Given the description of an element on the screen output the (x, y) to click on. 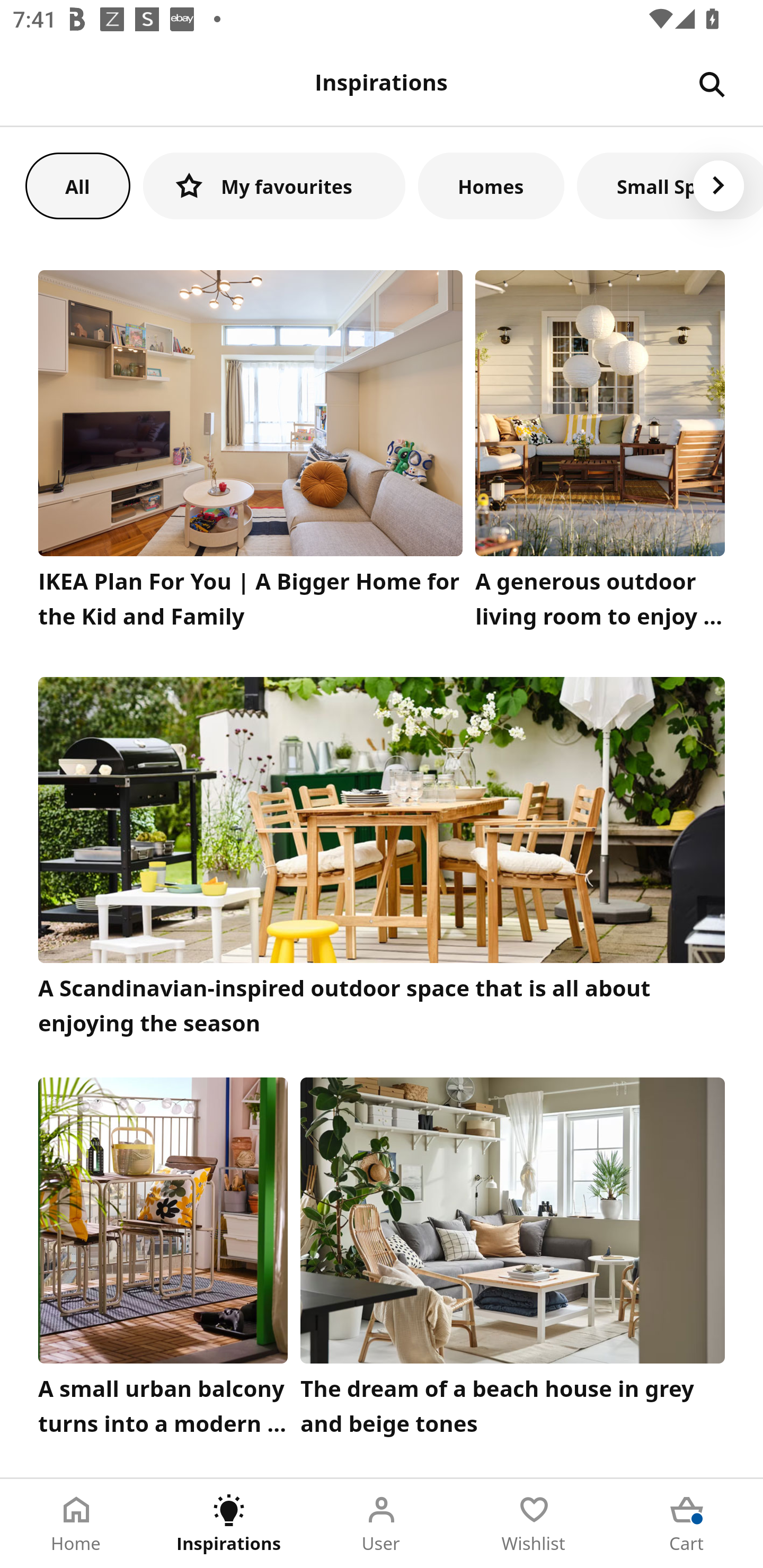
All (77, 185)
My favourites (274, 185)
Homes (491, 185)
The dream of a beach house in grey and beige tones (512, 1261)
Home
Tab 1 of 5 (76, 1522)
Inspirations
Tab 2 of 5 (228, 1522)
User
Tab 3 of 5 (381, 1522)
Wishlist
Tab 4 of 5 (533, 1522)
Cart
Tab 5 of 5 (686, 1522)
